Given the description of an element on the screen output the (x, y) to click on. 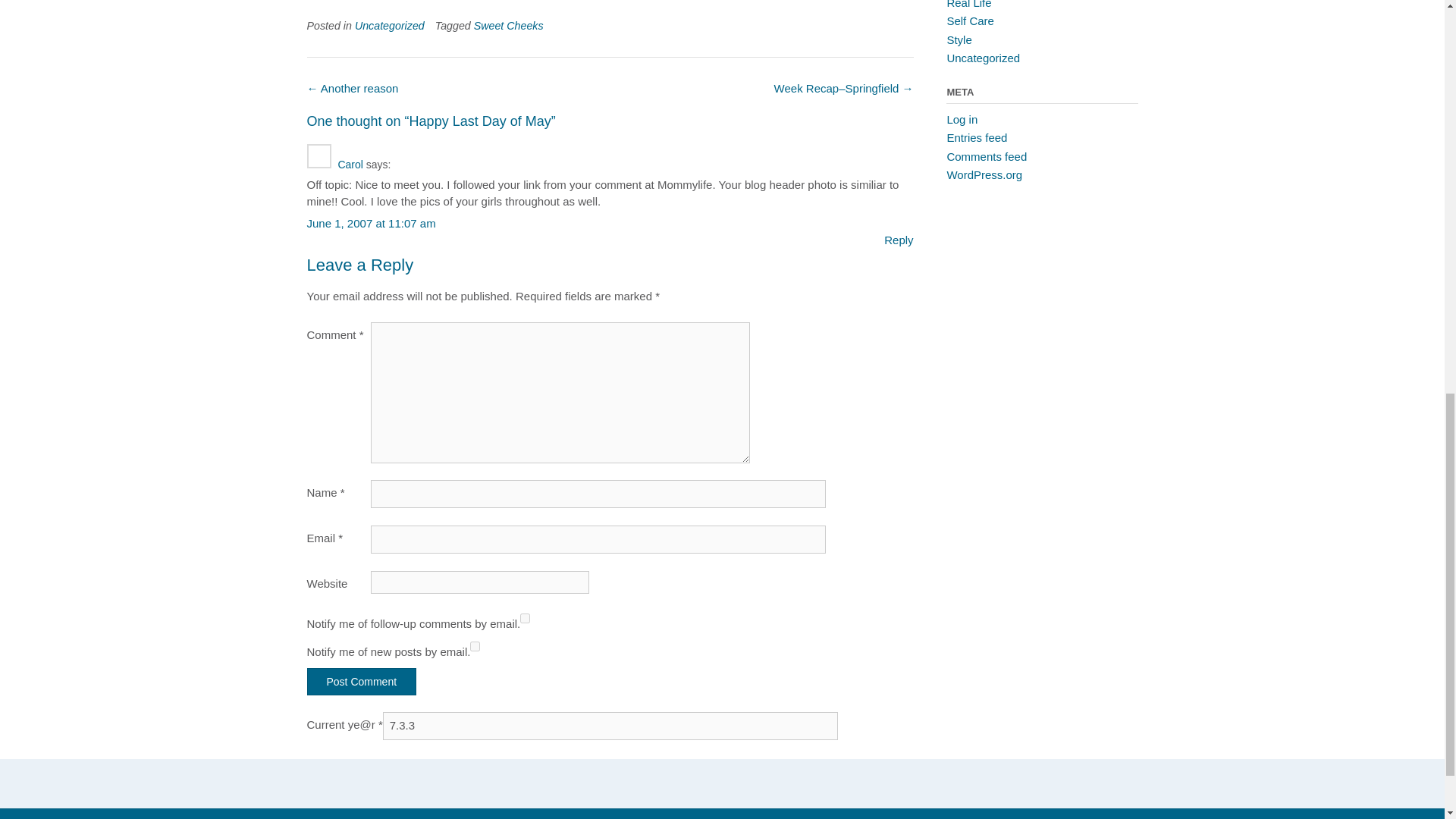
Carol (349, 164)
Post Comment (360, 681)
Sweet Cheeks (508, 25)
Reply (897, 239)
Post Comment (360, 681)
Uncategorized (390, 25)
June 1, 2007 at 11:07 am (370, 223)
subscribe (524, 618)
7.3.3 (610, 725)
subscribe (475, 646)
